Given the description of an element on the screen output the (x, y) to click on. 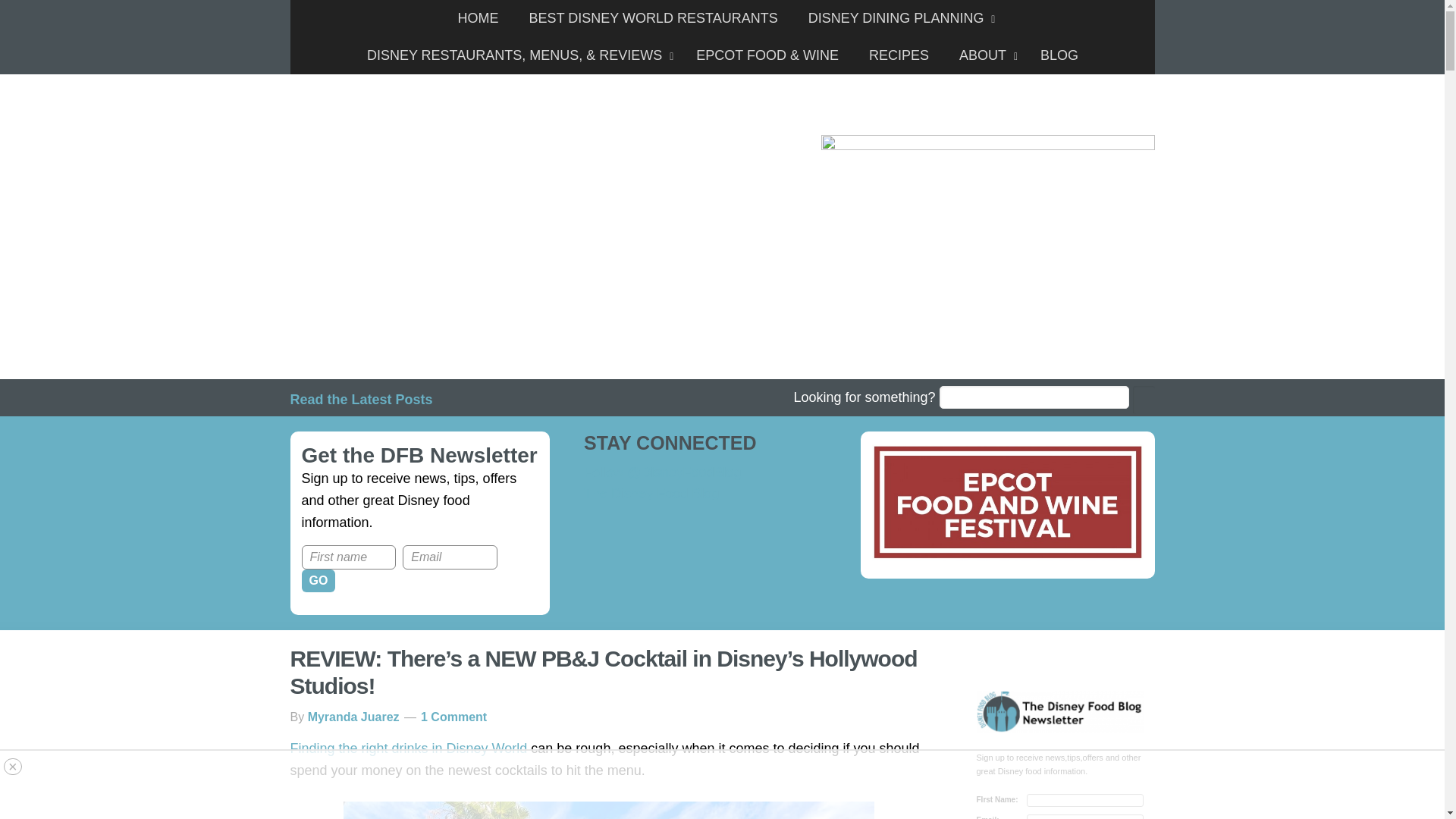
HOME (477, 18)
GO (318, 580)
Search (1143, 399)
BEST DISNEY WORLD RESTAURANTS (653, 18)
DISNEY DINING PLANNING (898, 18)
